Given the description of an element on the screen output the (x, y) to click on. 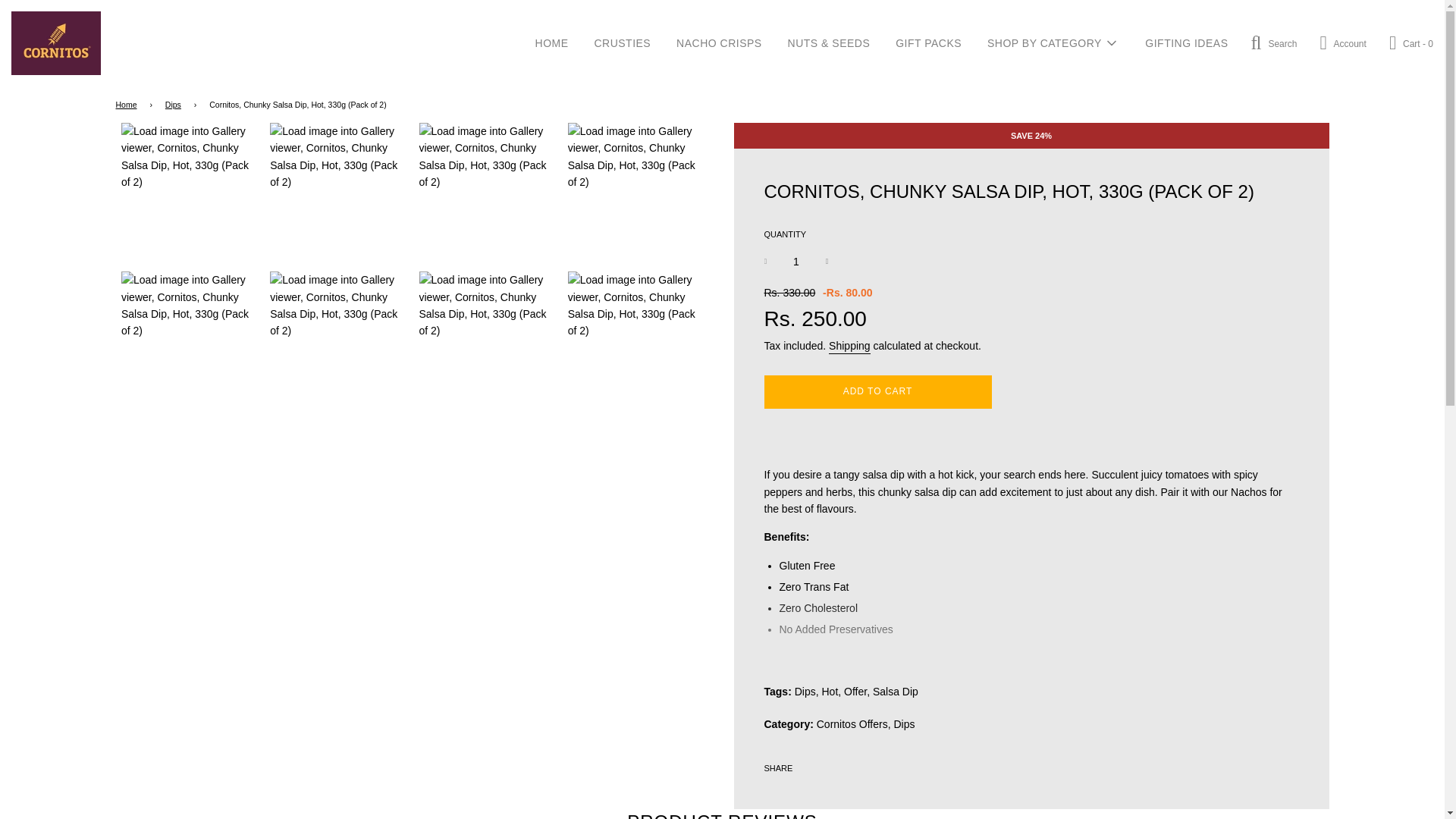
Back to the frontpage (128, 104)
GIFT PACKS (927, 42)
GIFTING IDEAS (1186, 42)
Log in (1342, 42)
1 (796, 261)
Cart - 0 (1410, 43)
CRUSTIES (622, 42)
HOME (551, 42)
SHOP BY CATEGORY (1053, 42)
Account (1342, 42)
